Given the description of an element on the screen output the (x, y) to click on. 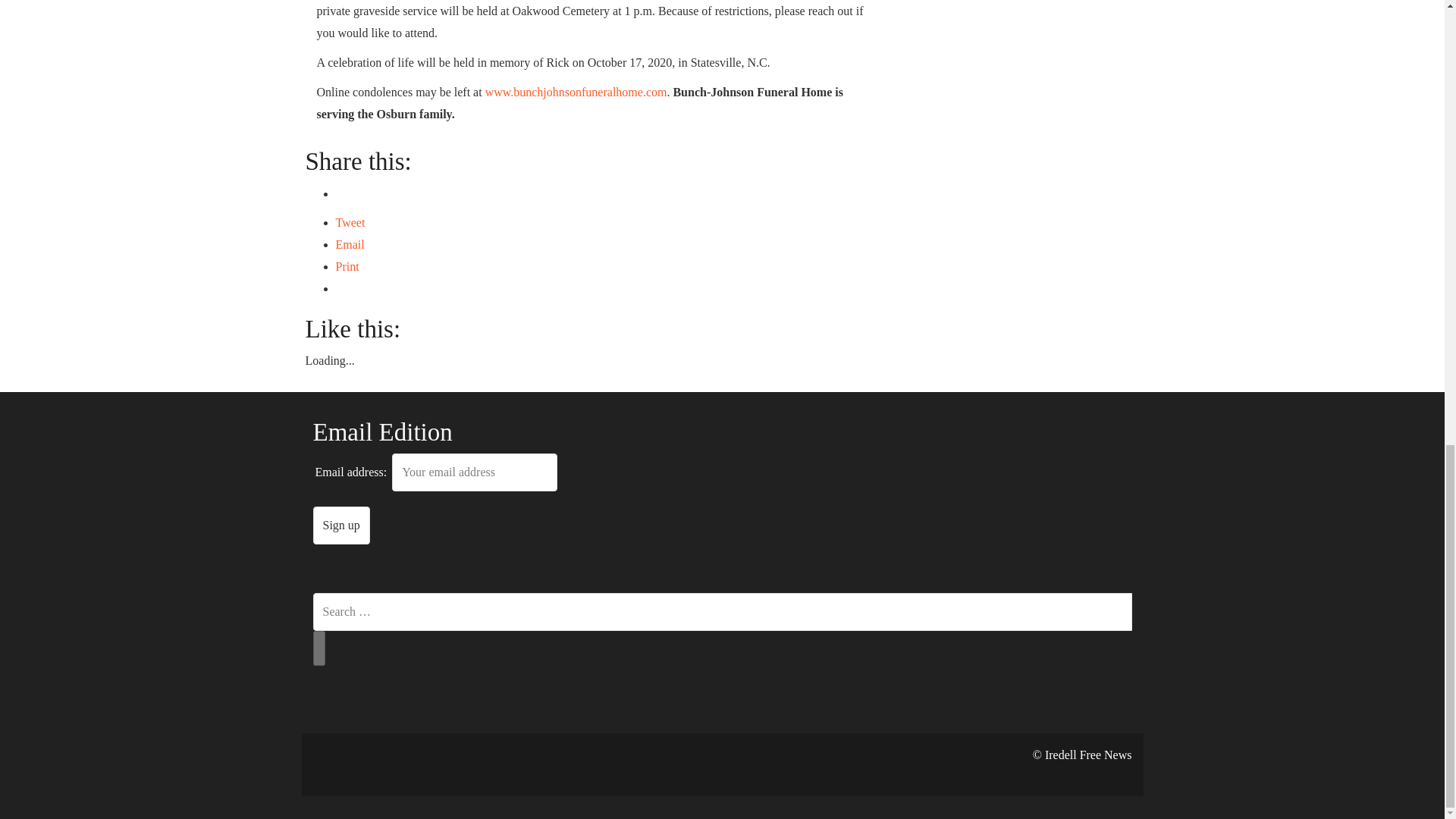
www.bunchjohnsonfuneralhome.com (573, 91)
Click to print (346, 266)
Sign up (341, 525)
Sign up (341, 525)
Print (346, 266)
Tweet (349, 222)
Click to email a link to a friend (349, 244)
Email (349, 244)
